Given the description of an element on the screen output the (x, y) to click on. 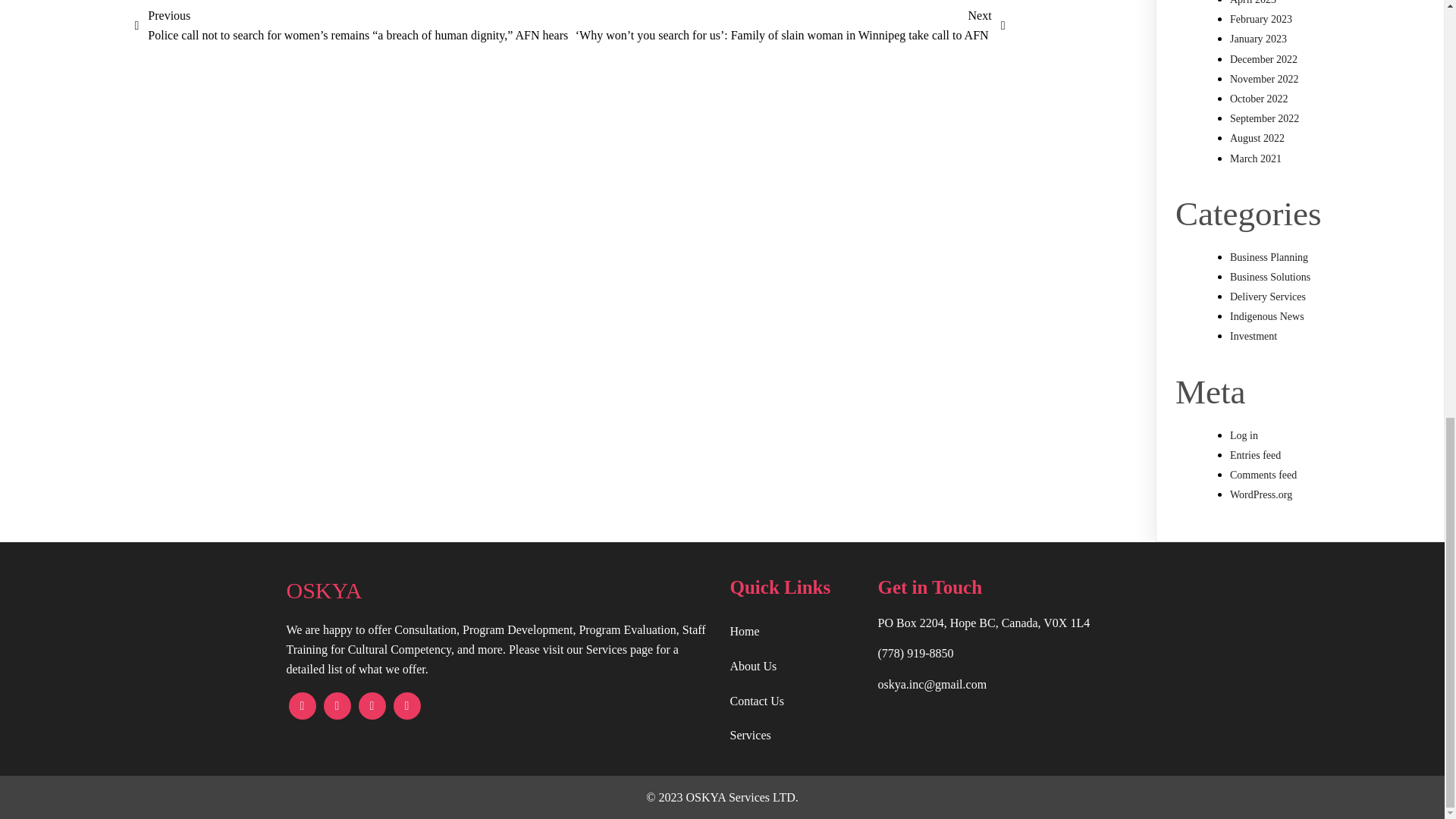
April 2023 (1253, 2)
November 2022 (1264, 79)
September 2022 (1264, 118)
February 2023 (1261, 19)
Business Planning (1268, 256)
March 2021 (1255, 157)
Business Solutions (1270, 276)
August 2022 (1257, 138)
January 2023 (1258, 39)
October 2022 (1259, 98)
